Given the description of an element on the screen output the (x, y) to click on. 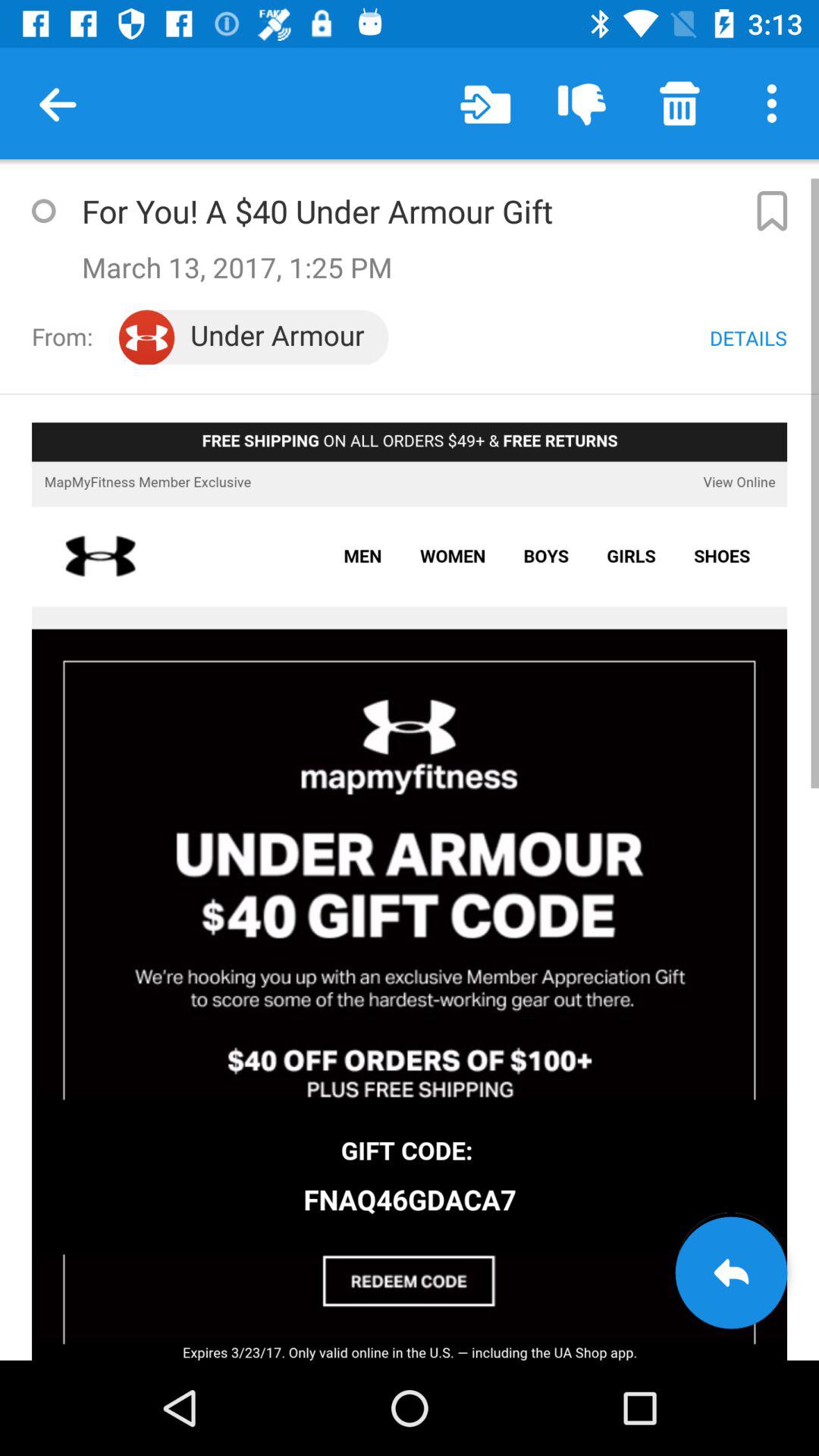
select button (43, 210)
